Given the description of an element on the screen output the (x, y) to click on. 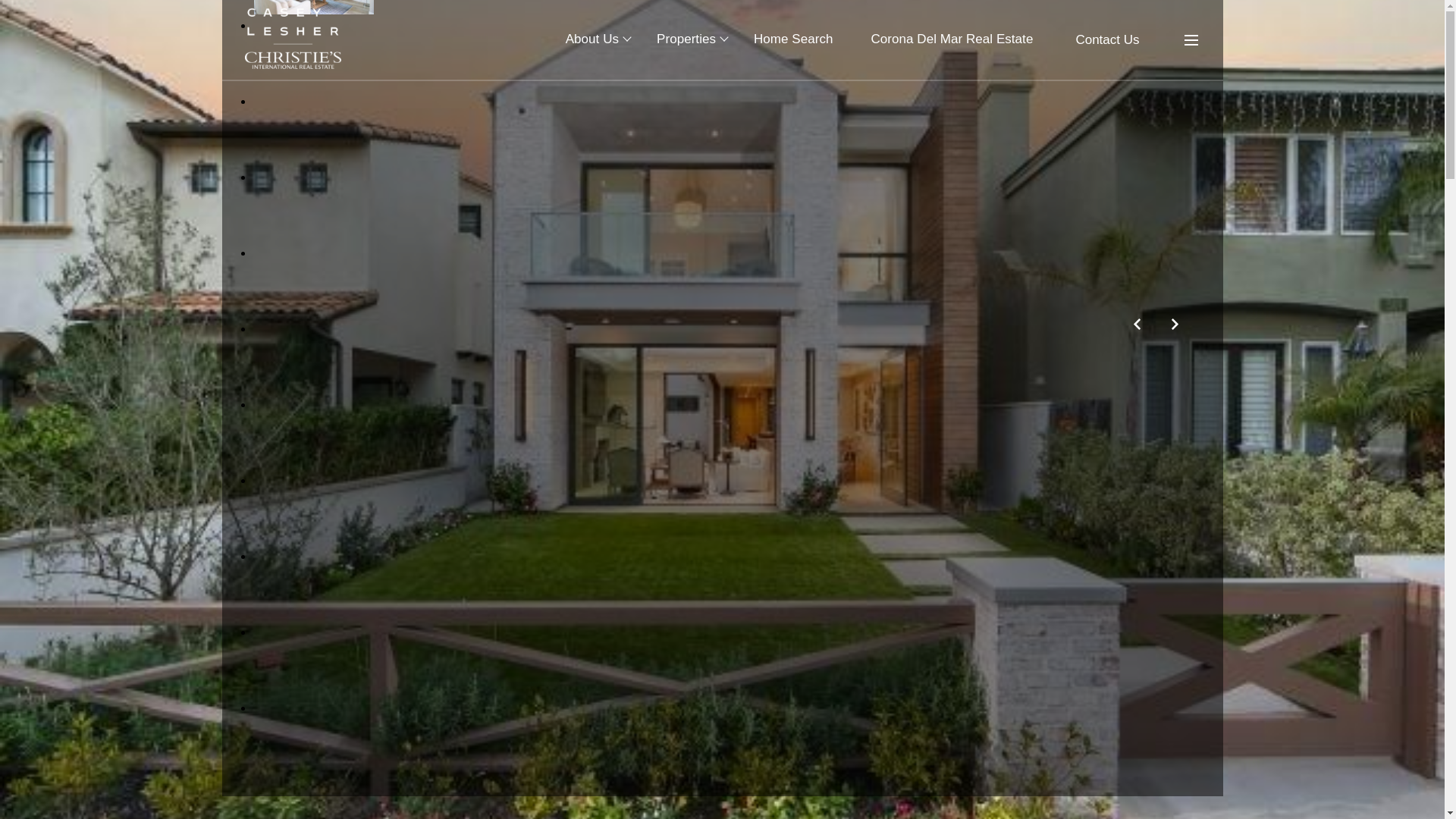
About Us (592, 38)
Properties (686, 38)
Corona Del Mar Real Estate (951, 38)
Home Search (793, 38)
Contact Us (1106, 39)
